Given the description of an element on the screen output the (x, y) to click on. 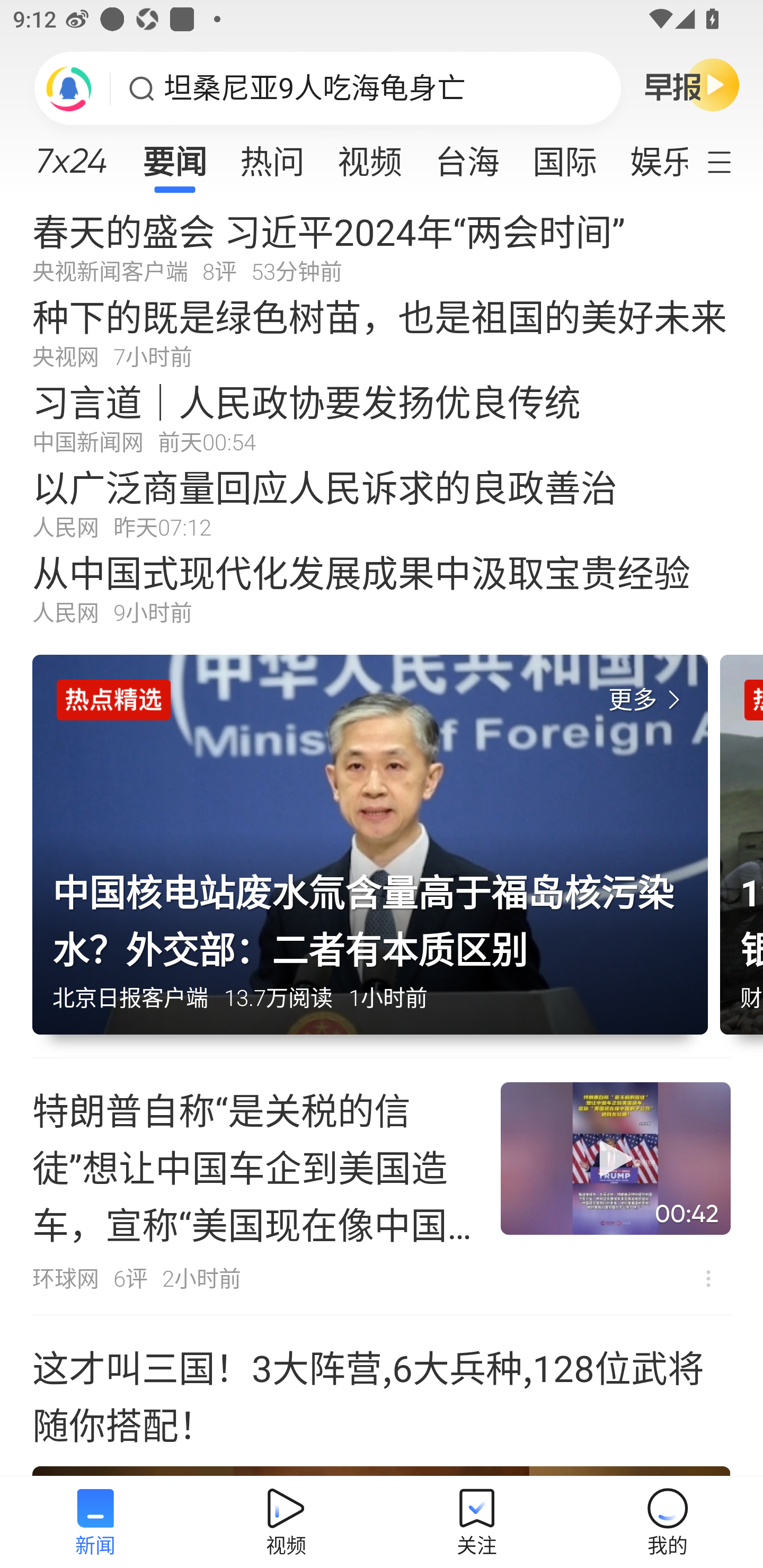
早晚报 (691, 84)
刷新 (68, 88)
坦桑尼亚9人吃海龟身亡 (314, 88)
7x24 (70, 154)
要闻 (174, 155)
热问 (272, 155)
视频 (369, 155)
台海 (466, 155)
国际 (564, 155)
娱乐 (650, 155)
 定制频道 (731, 160)
春天的盛会 习近平2024年“两会时间” 央视新闻客户端 8评 53分钟前 (381, 245)
种下的既是绿色树苗，也是祖国的美好未来 央视网 7小时前 (381, 331)
习言道｜人民政协要发扬优良传统 中国新闻网 前天00:54 (381, 416)
以广泛商量回应人民诉求的良政善治 人民网 昨天07:12 (381, 502)
从中国式现代化发展成果中汲取宝贵经验 人民网 9小时前 (381, 587)
更多  (648, 699)
 不感兴趣 (707, 1278)
这才叫三国！3大阵营,6大兵种,128位武将随你搭配！ (381, 1396)
